Given the description of an element on the screen output the (x, y) to click on. 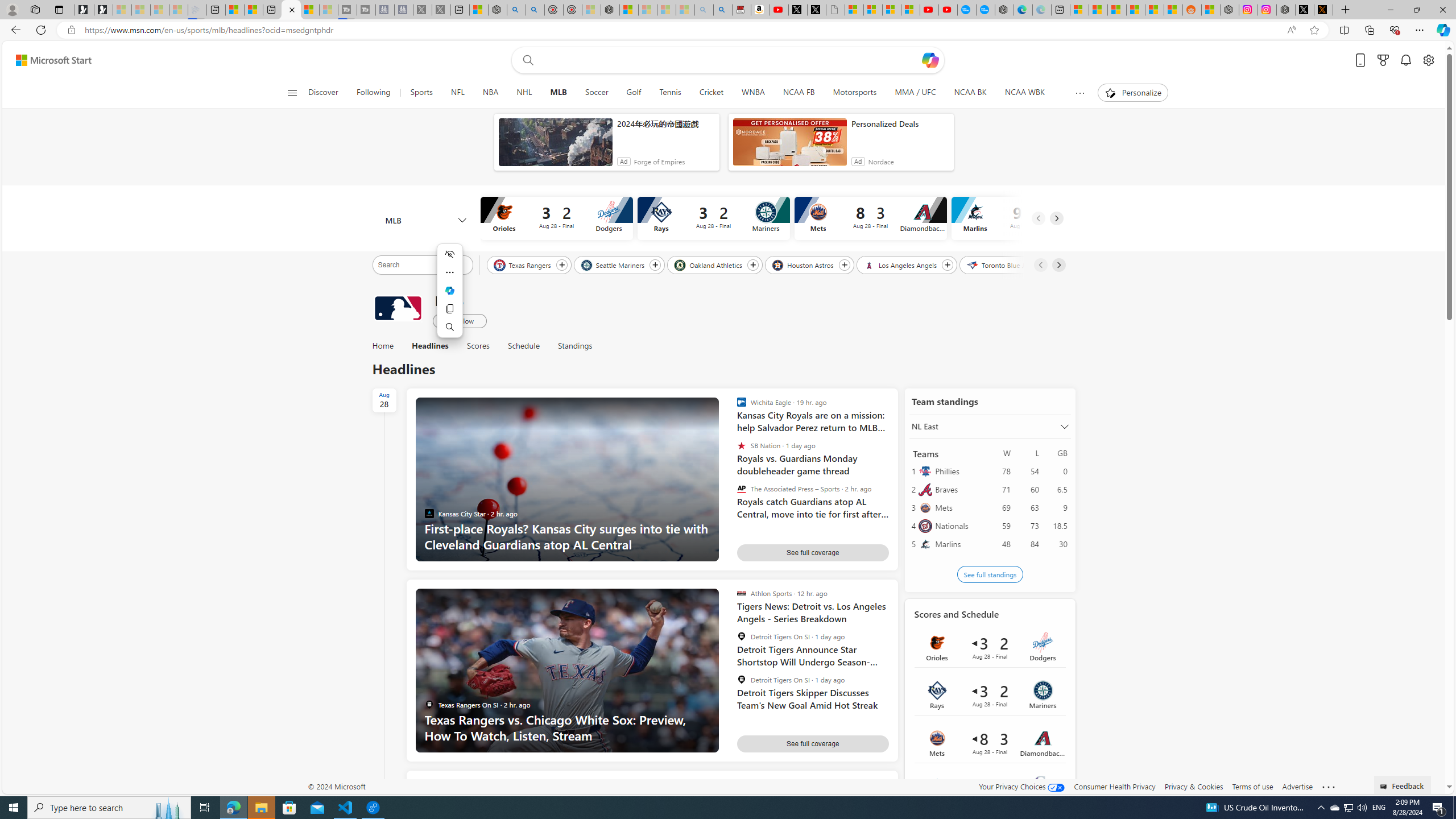
Consumer Health Privacy (1115, 786)
Hide menu (449, 253)
Golf (633, 92)
Headlines (430, 345)
Privacy & Cookies (1193, 786)
WNBA (752, 92)
NFL (457, 92)
Open navigation menu (292, 92)
Phillies (958, 471)
Schedule (522, 345)
